Given the description of an element on the screen output the (x, y) to click on. 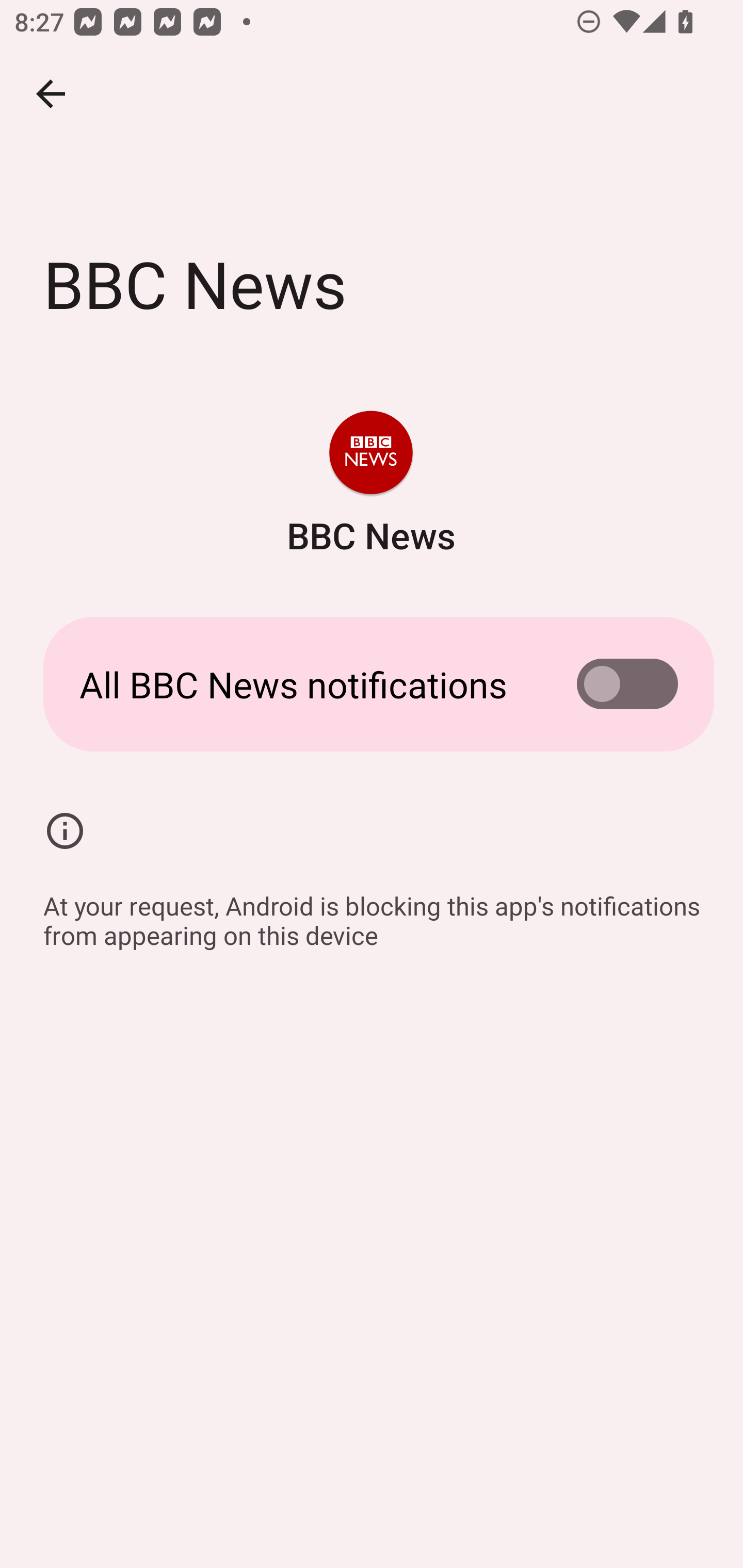
Navigate up (50, 93)
BBC News (370, 484)
All BBC News notifications (371, 684)
